Given the description of an element on the screen output the (x, y) to click on. 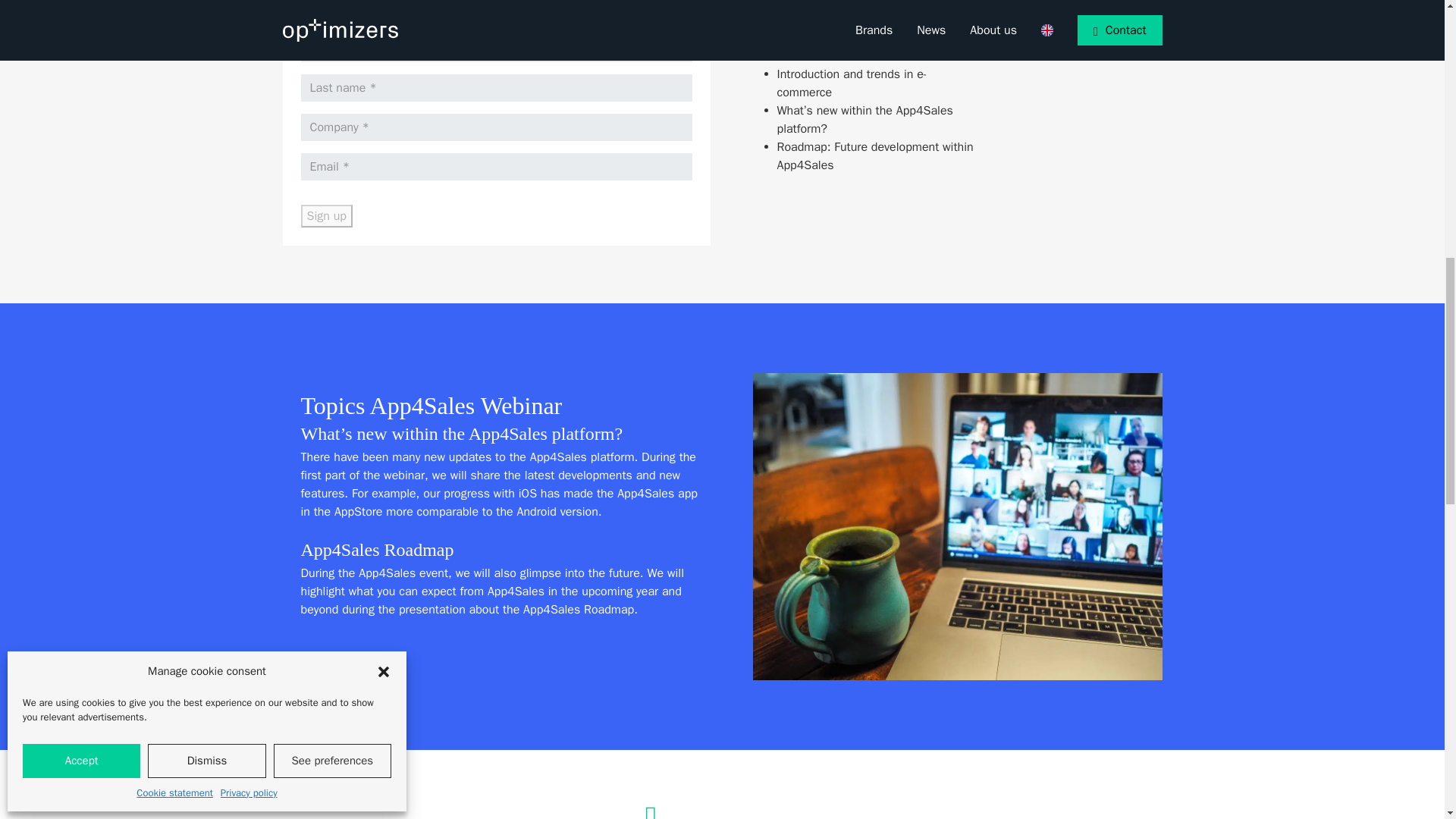
Sign up (325, 215)
